Given the description of an element on the screen output the (x, y) to click on. 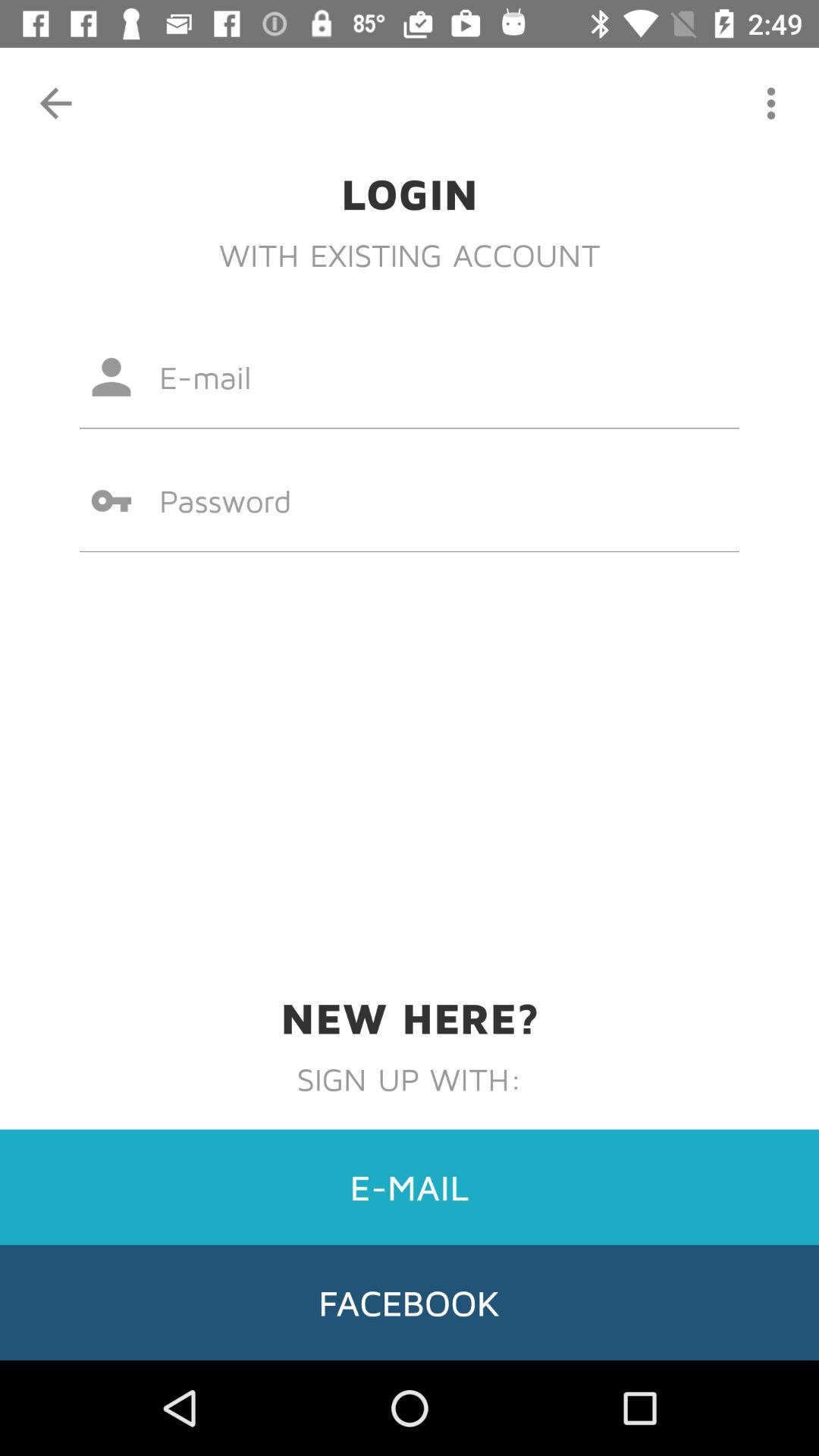
select the e-mail icon (409, 1186)
